Given the description of an element on the screen output the (x, y) to click on. 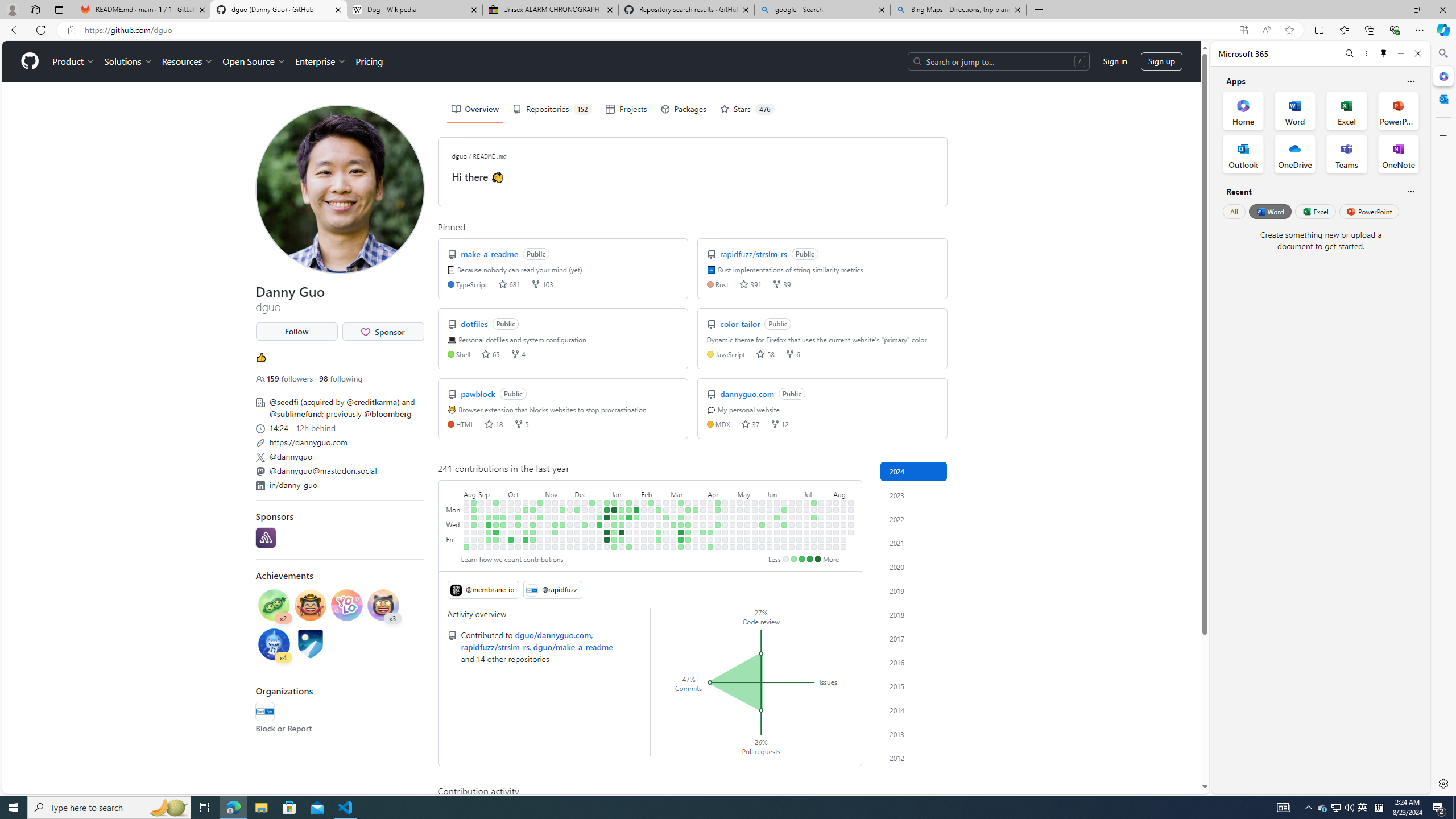
1 contribution on November 15th. (555, 524)
Dog - Wikipedia (414, 9)
No contributions on February 6th. (643, 517)
No contributions on March 30th. (695, 546)
Friday (454, 539)
5 contributions on October 6th. (510, 539)
No contributions on February 9th. (643, 539)
No contributions on July 1st. (799, 509)
No contributions on December 7th. (577, 531)
7 contributions on March 14th. (681, 531)
forks 12 (779, 423)
Excel (1315, 210)
